Given the description of an element on the screen output the (x, y) to click on. 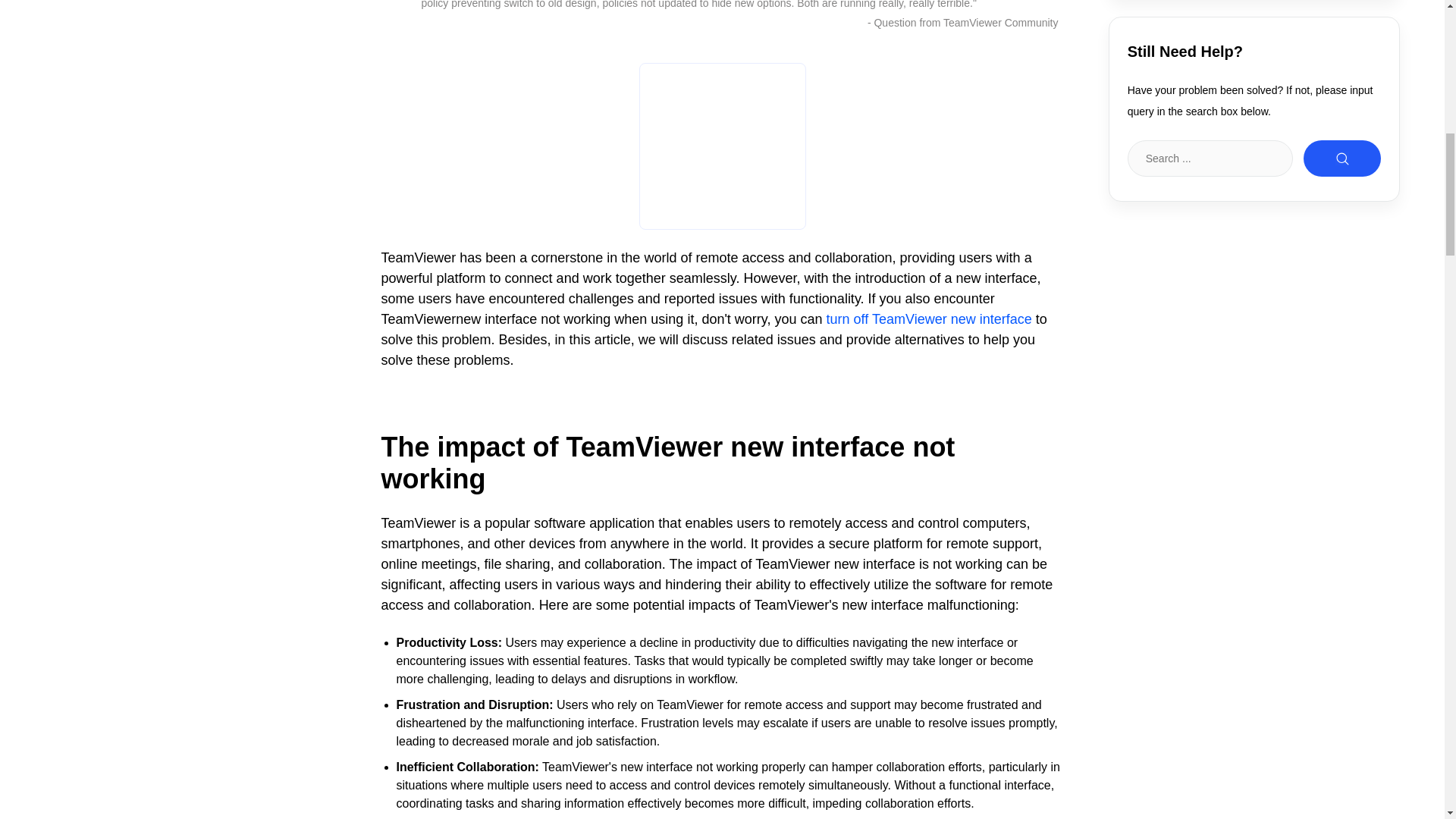
Turn Off TeamViewer New Interface (929, 319)
turn off TeamViewer new interface (929, 319)
